Given the description of an element on the screen output the (x, y) to click on. 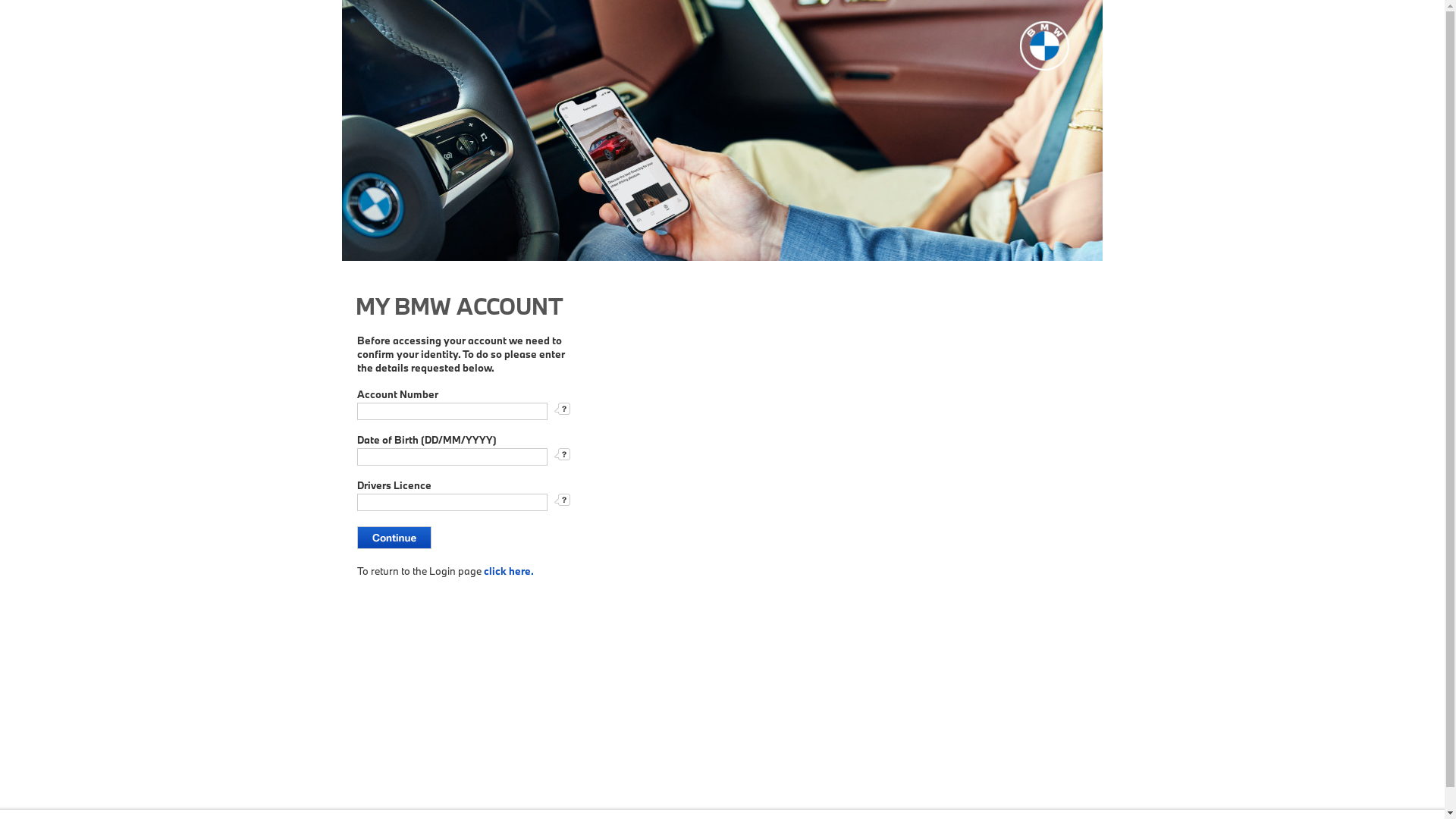
click here. Element type: text (508, 570)
